Given the description of an element on the screen output the (x, y) to click on. 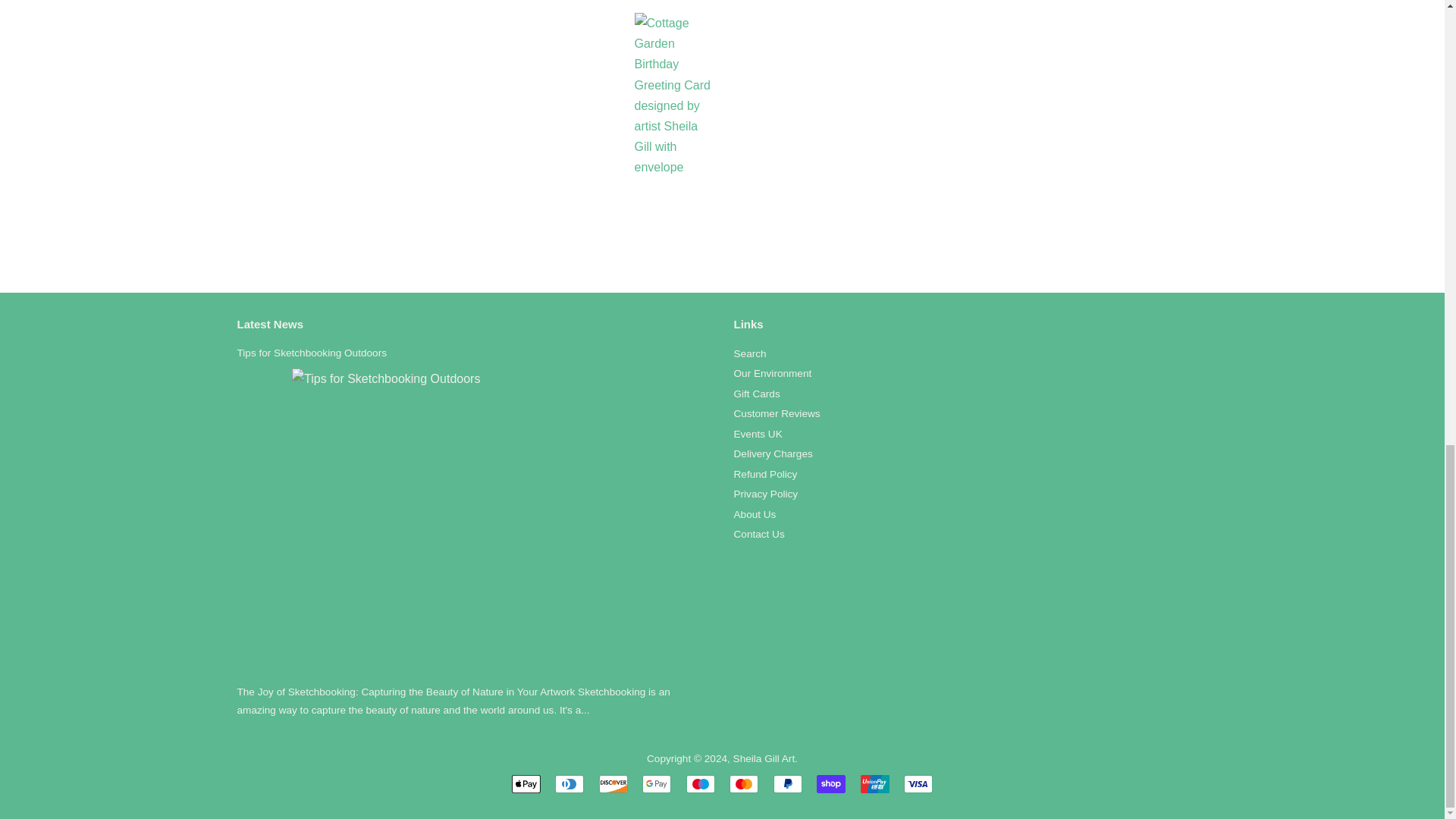
Union Pay (874, 783)
PayPal (787, 783)
Diners Club (568, 783)
Discover (612, 783)
Visa (918, 783)
Mastercard (743, 783)
Apple Pay (526, 783)
Shop Pay (830, 783)
Google Pay (656, 783)
Maestro (699, 783)
